Given the description of an element on the screen output the (x, y) to click on. 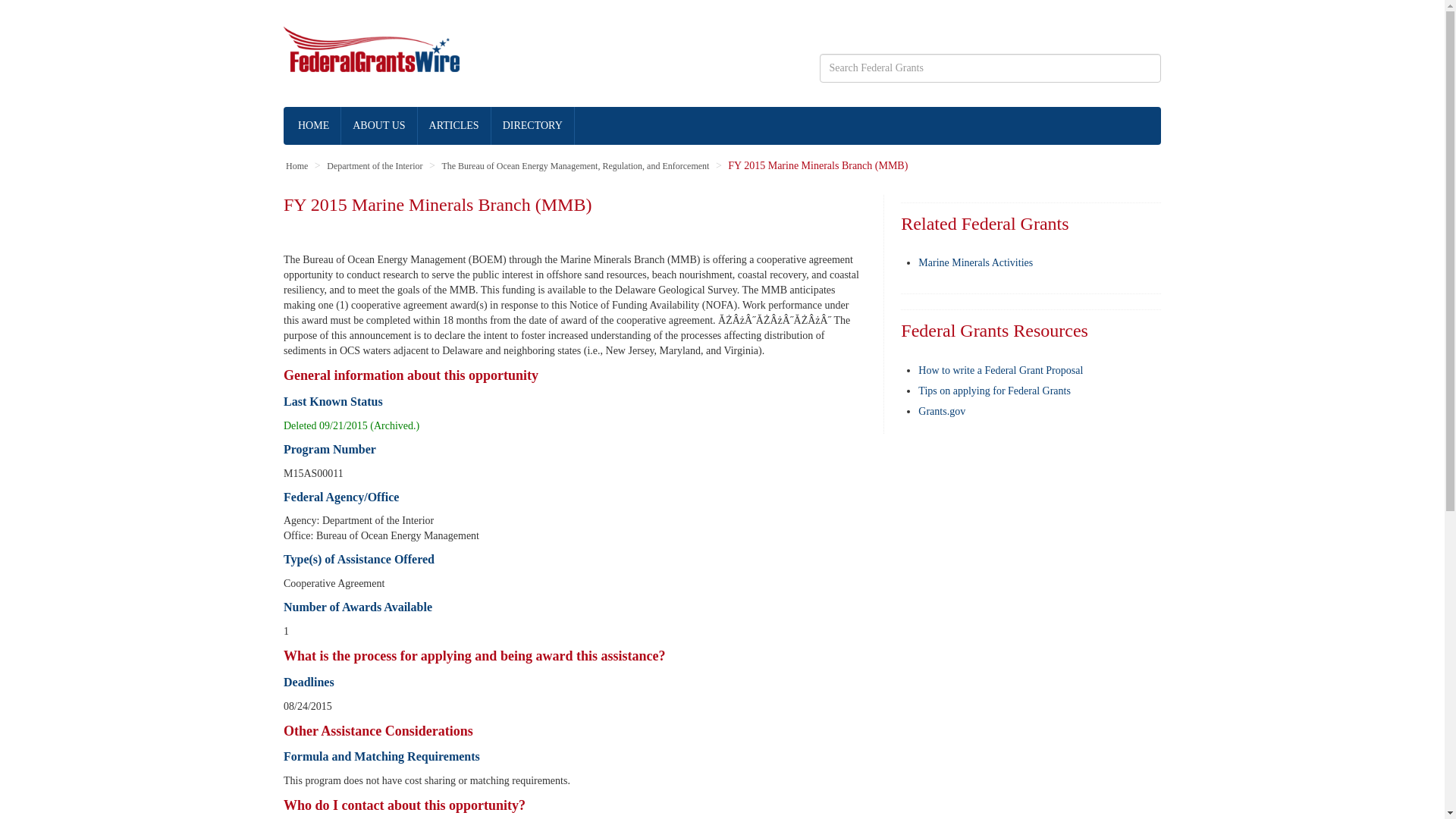
Department of the Interior (374, 165)
Home (296, 165)
HOME (313, 125)
DIRECTORY (533, 125)
ABOUT US (378, 125)
Marine Minerals Activities (975, 262)
Grants.gov (941, 410)
Tips on applying for Federal Grants (994, 390)
ARTICLES (454, 125)
How to write a Federal Grant Proposal (1000, 369)
